Given the description of an element on the screen output the (x, y) to click on. 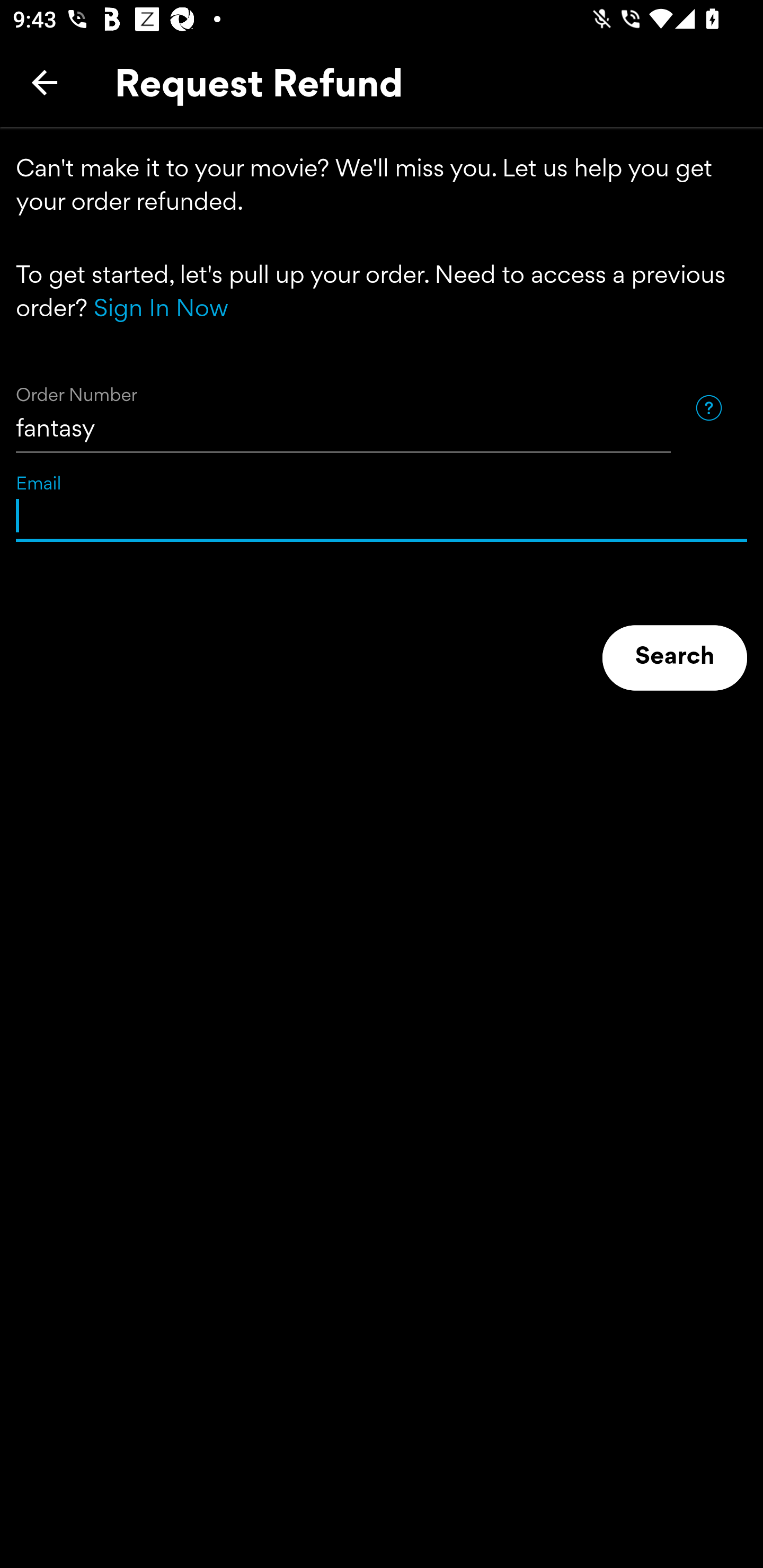
Back (44, 82)
fantasy (343, 408)
Help (708, 407)
Search (674, 657)
